Given the description of an element on the screen output the (x, y) to click on. 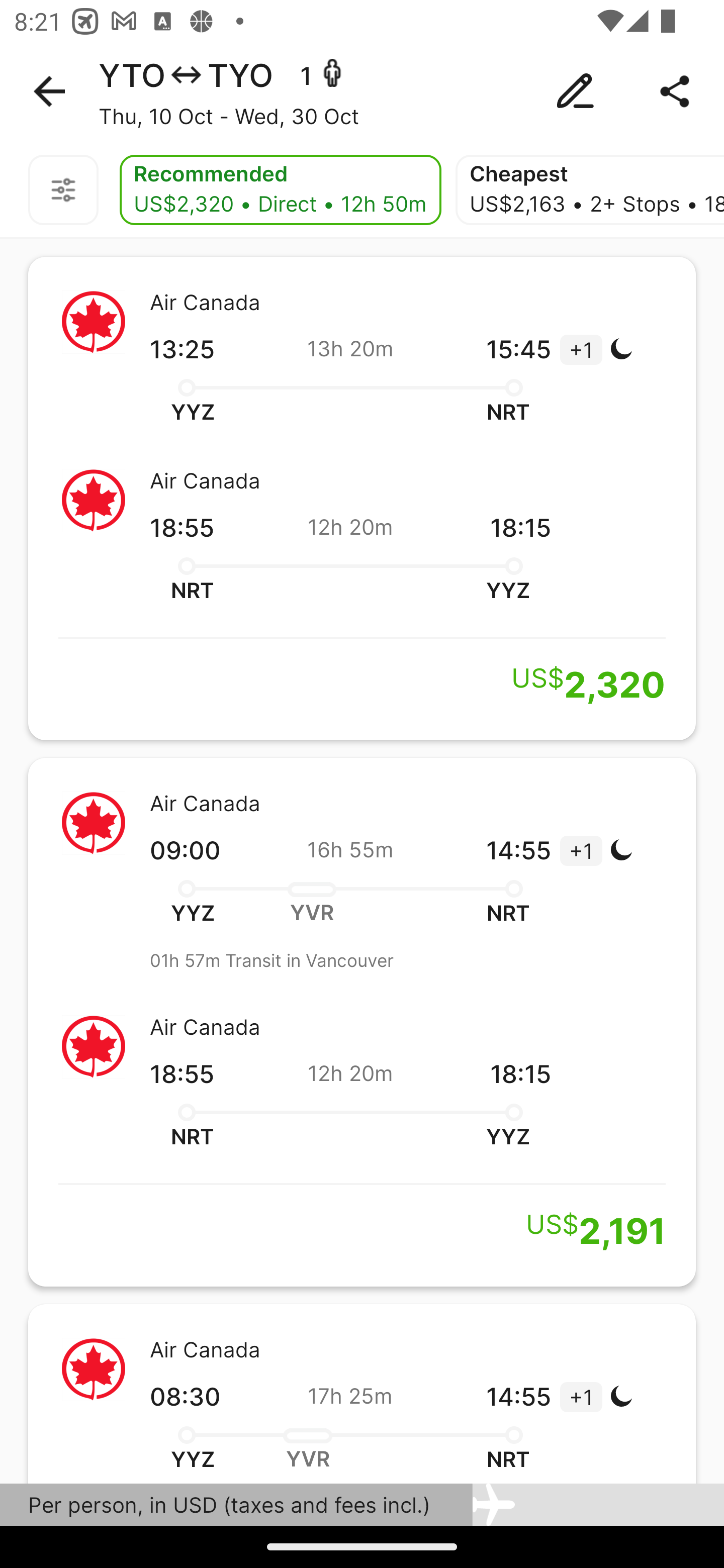
YTO TYO   1 - Thu, 10 Oct - Wed, 30 Oct (361, 91)
Recommended  US$2,320 • Direct • 12h 50m (280, 190)
Cheapest US$2,163 • 2+ Stops • 18h 12m (589, 190)
Air Canada 08:30 17h 25m 14:55 YYZ YVR NRT +1 (361, 1393)
